Given the description of an element on the screen output the (x, y) to click on. 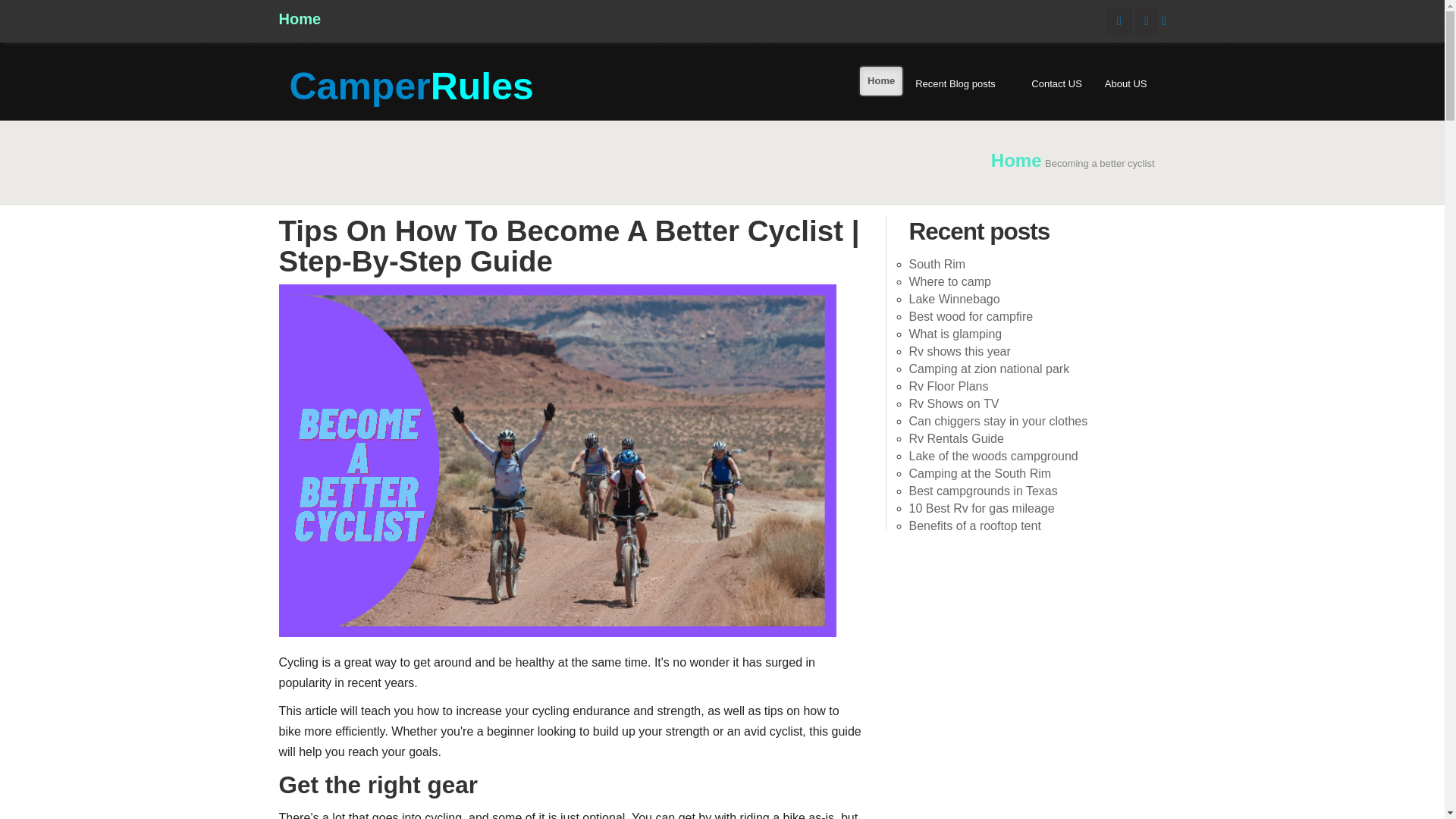
Twitter (1146, 20)
Home (881, 81)
About US (1125, 84)
Contact US (1056, 84)
CamperRules (406, 86)
Facebook (1119, 20)
Home (1016, 159)
Recent Blog posts (962, 84)
Home (300, 18)
